Given the description of an element on the screen output the (x, y) to click on. 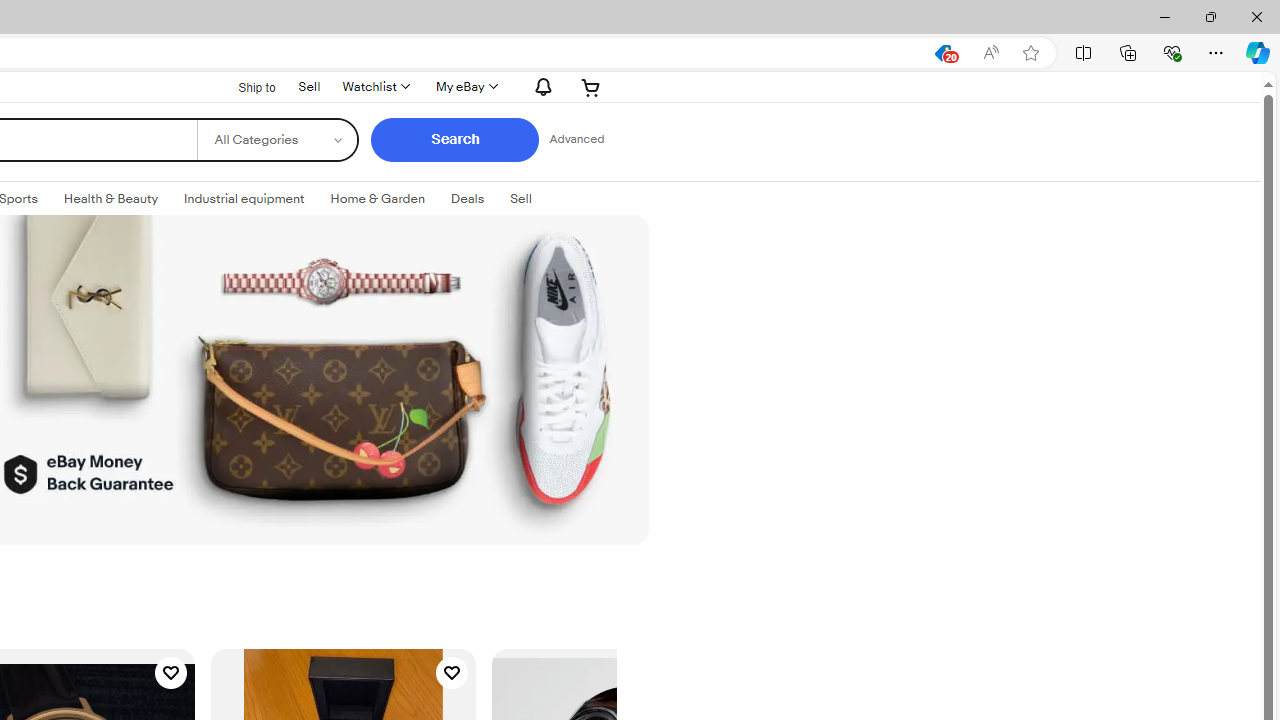
This site has coupons! Shopping in Microsoft Edge, 20 (943, 53)
